Given the description of an element on the screen output the (x, y) to click on. 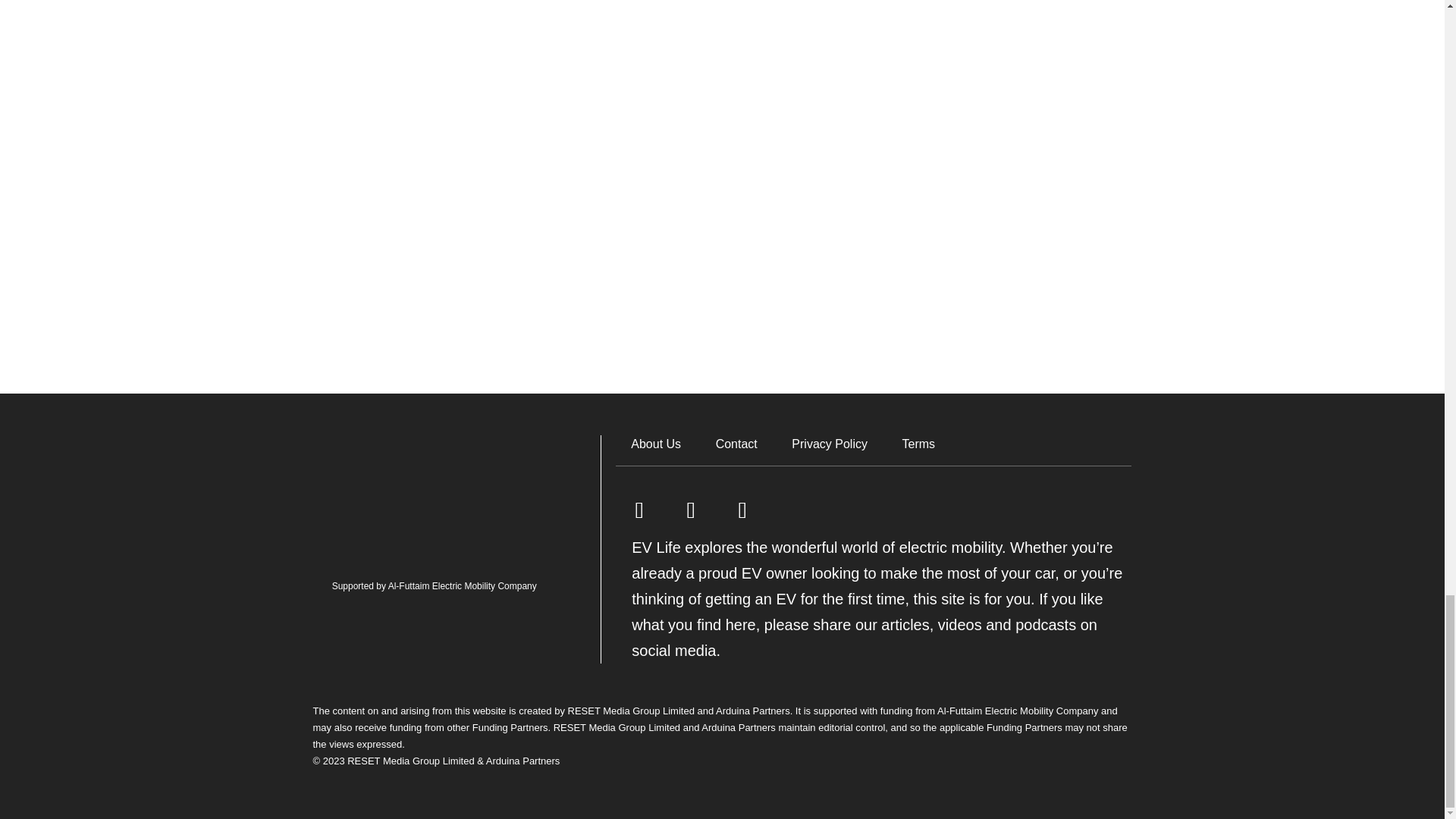
Follow on X (690, 510)
evlife-logo-footer (434, 495)
Follow on LinkedIn (638, 510)
Follow on Instagram (742, 510)
